Given the description of an element on the screen output the (x, y) to click on. 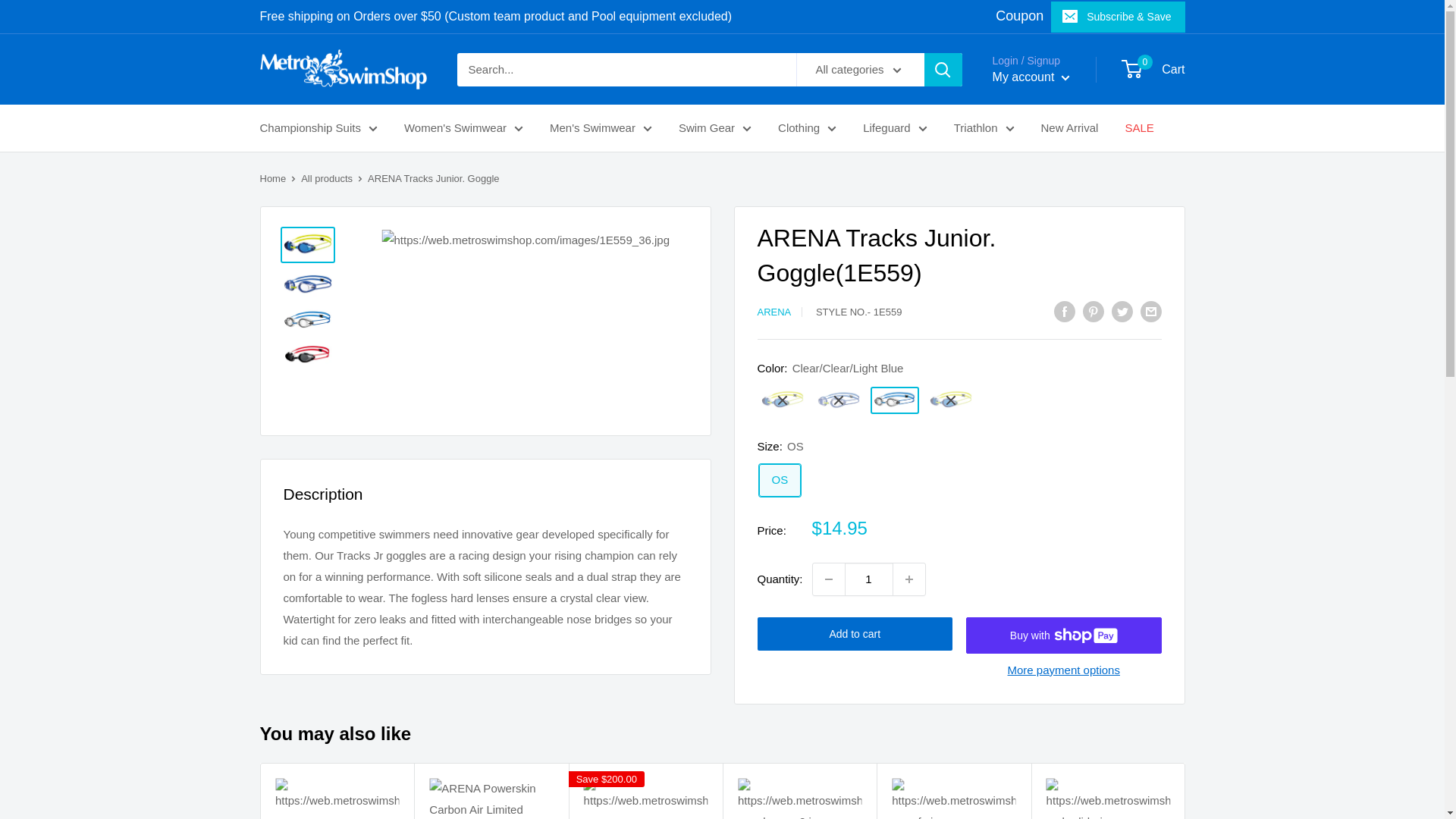
Increase quantity by 1 (908, 579)
Decrease quantity by 1 (828, 579)
OS (779, 480)
1 (868, 579)
Coupon (1019, 15)
